Given the description of an element on the screen output the (x, y) to click on. 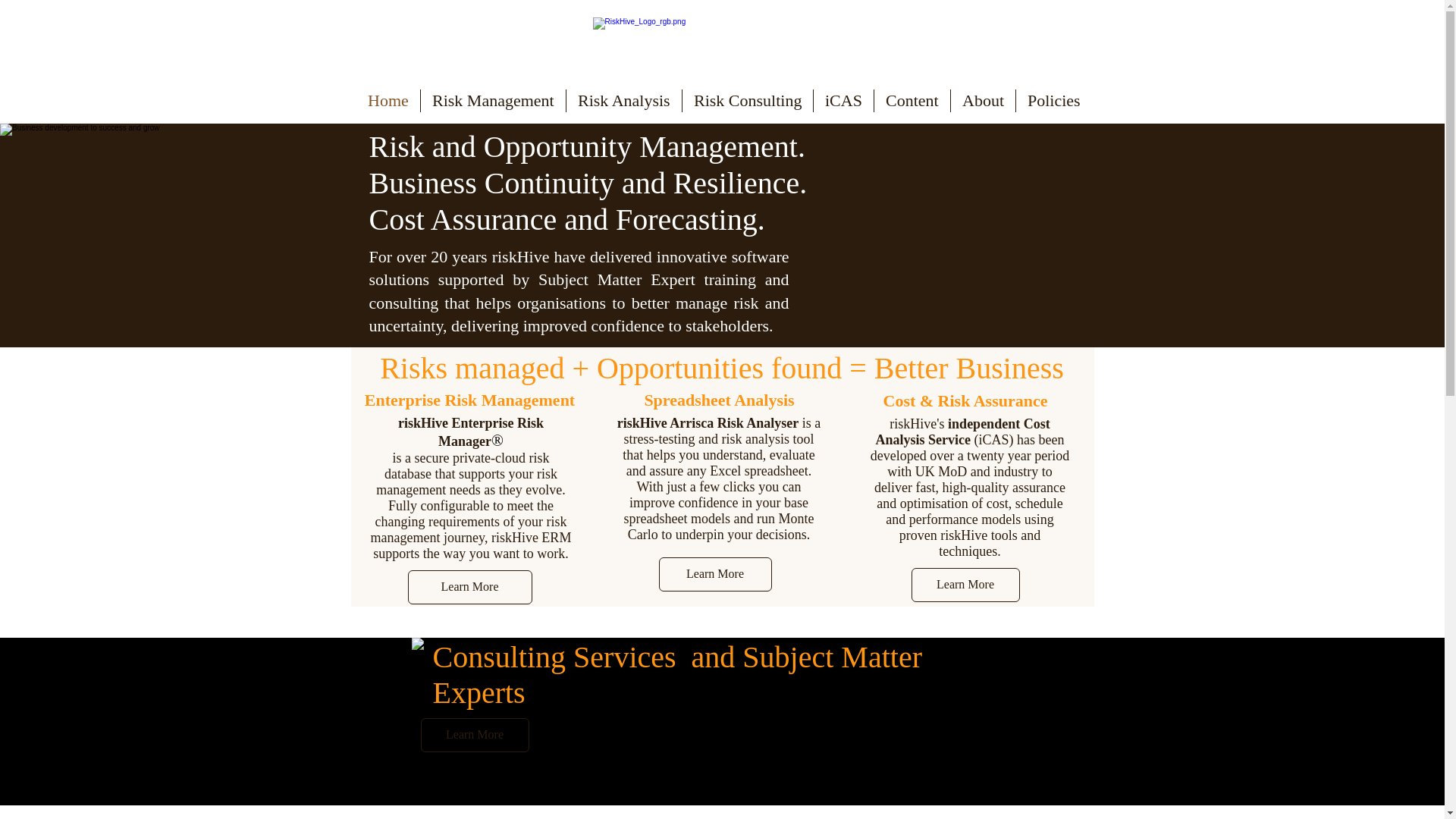
About (982, 100)
Risk Management (493, 100)
iCAS (843, 100)
Policies (1054, 100)
Learn More (714, 574)
Risk Consulting (747, 100)
Risk Analysis (623, 100)
Learn More (965, 584)
Home (388, 100)
Learn More (474, 735)
